Given the description of an element on the screen output the (x, y) to click on. 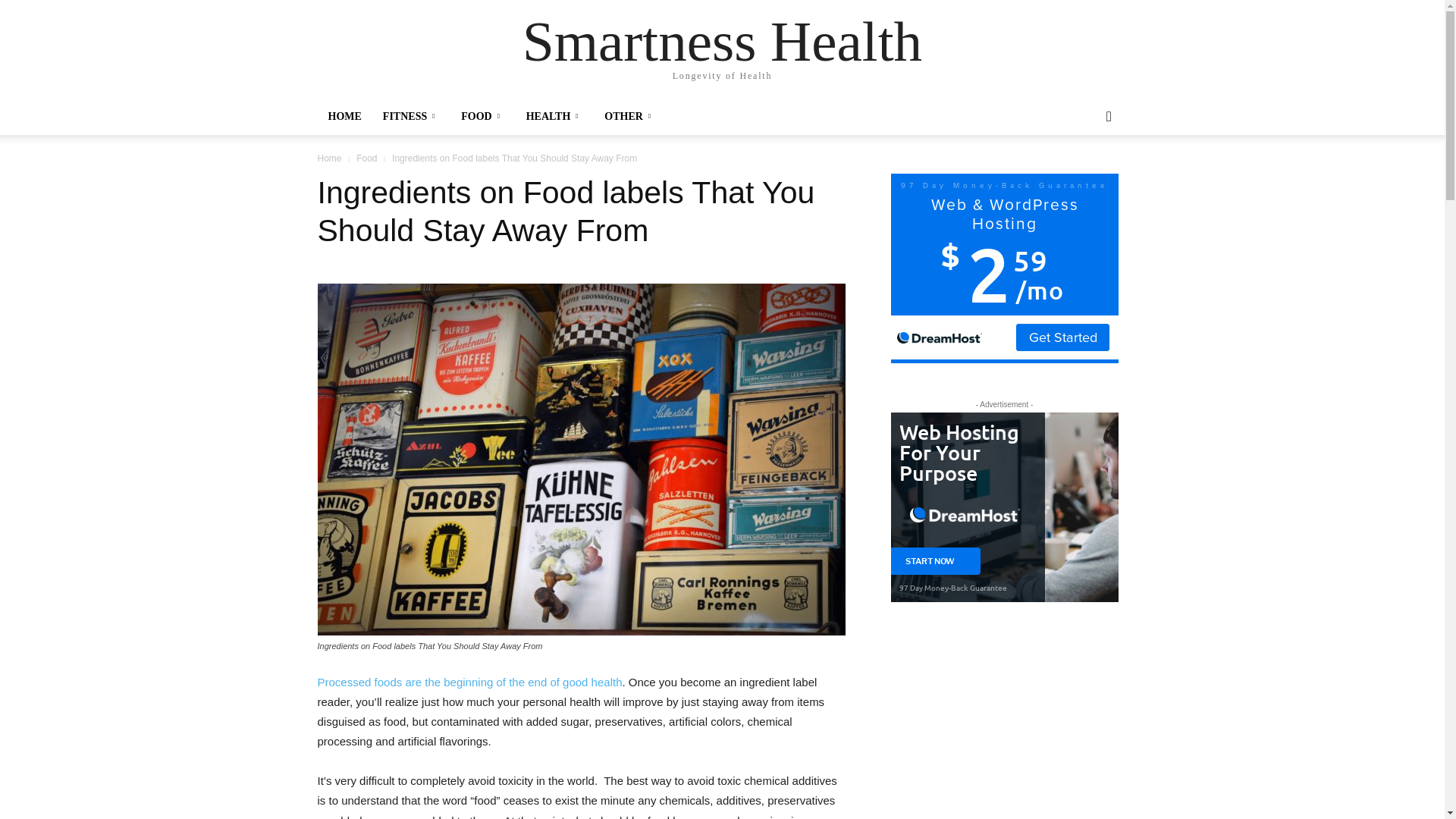
Smartness Health (721, 41)
FITNESS (410, 116)
HOME (344, 116)
